Given the description of an element on the screen output the (x, y) to click on. 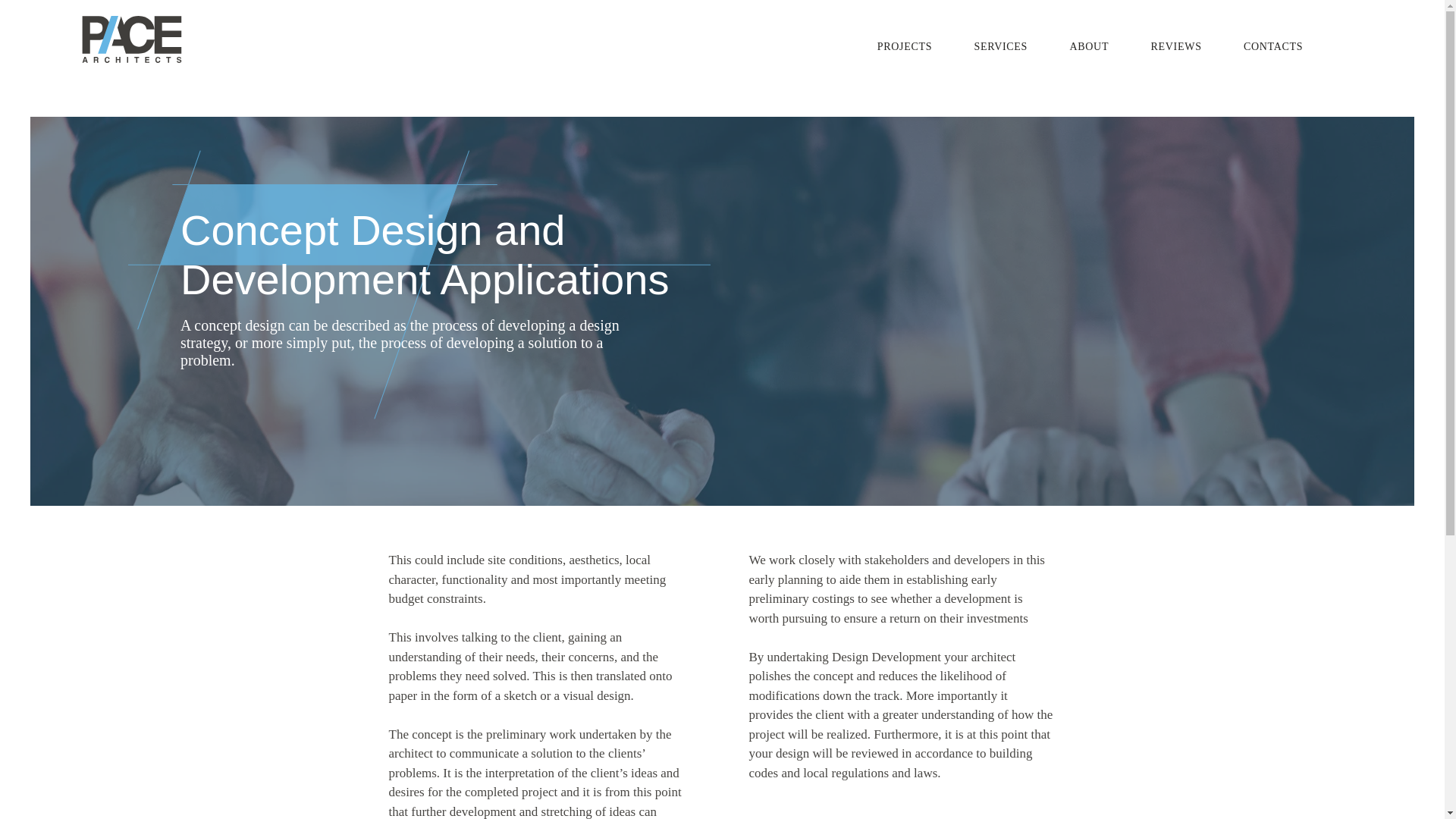
ABOUT (1088, 46)
PROJECTS (904, 46)
REVIEWS (1176, 46)
CONTACTS (1272, 46)
